Given the description of an element on the screen output the (x, y) to click on. 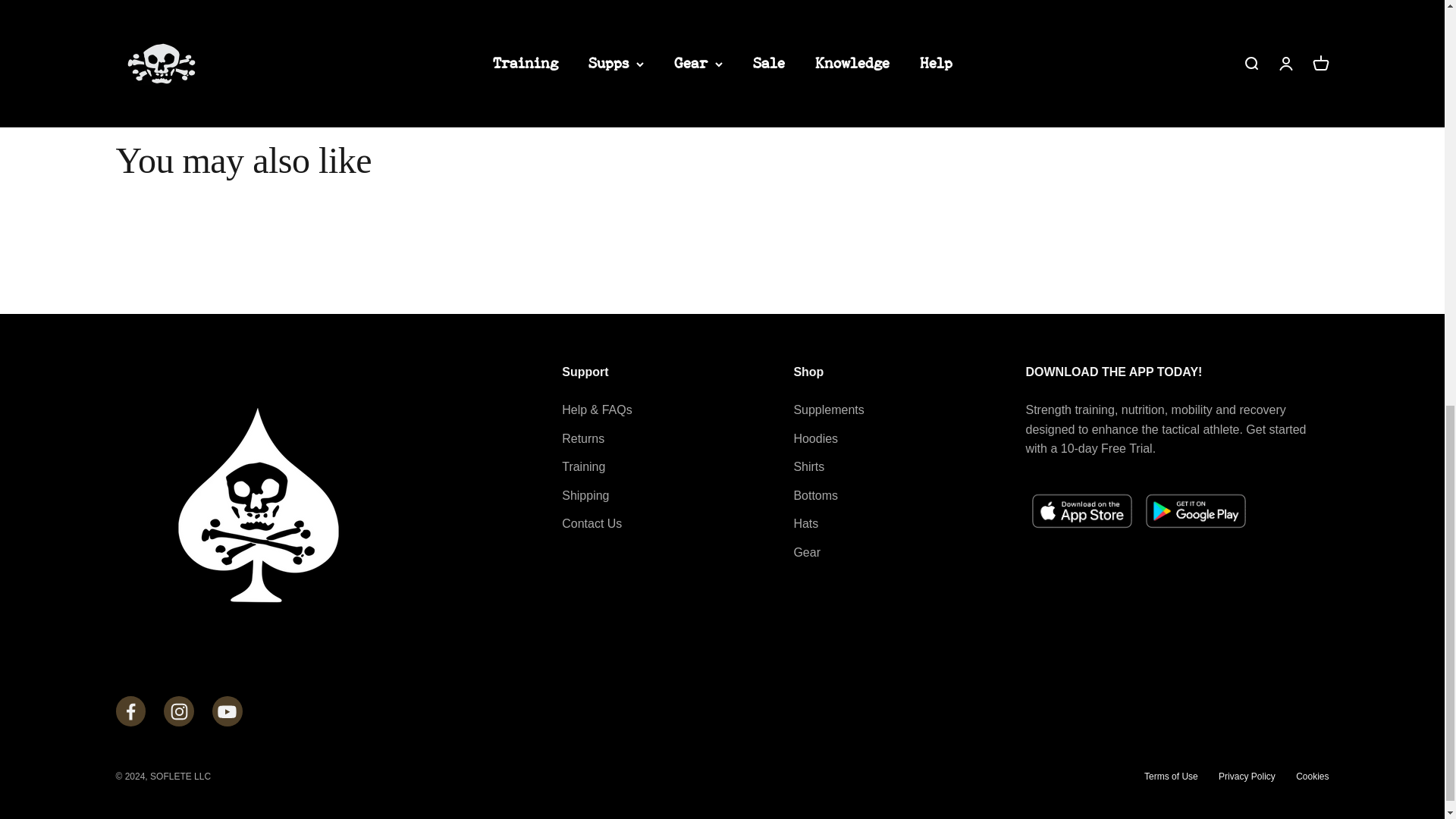
Zoom (707, 3)
